Given the description of an element on the screen output the (x, y) to click on. 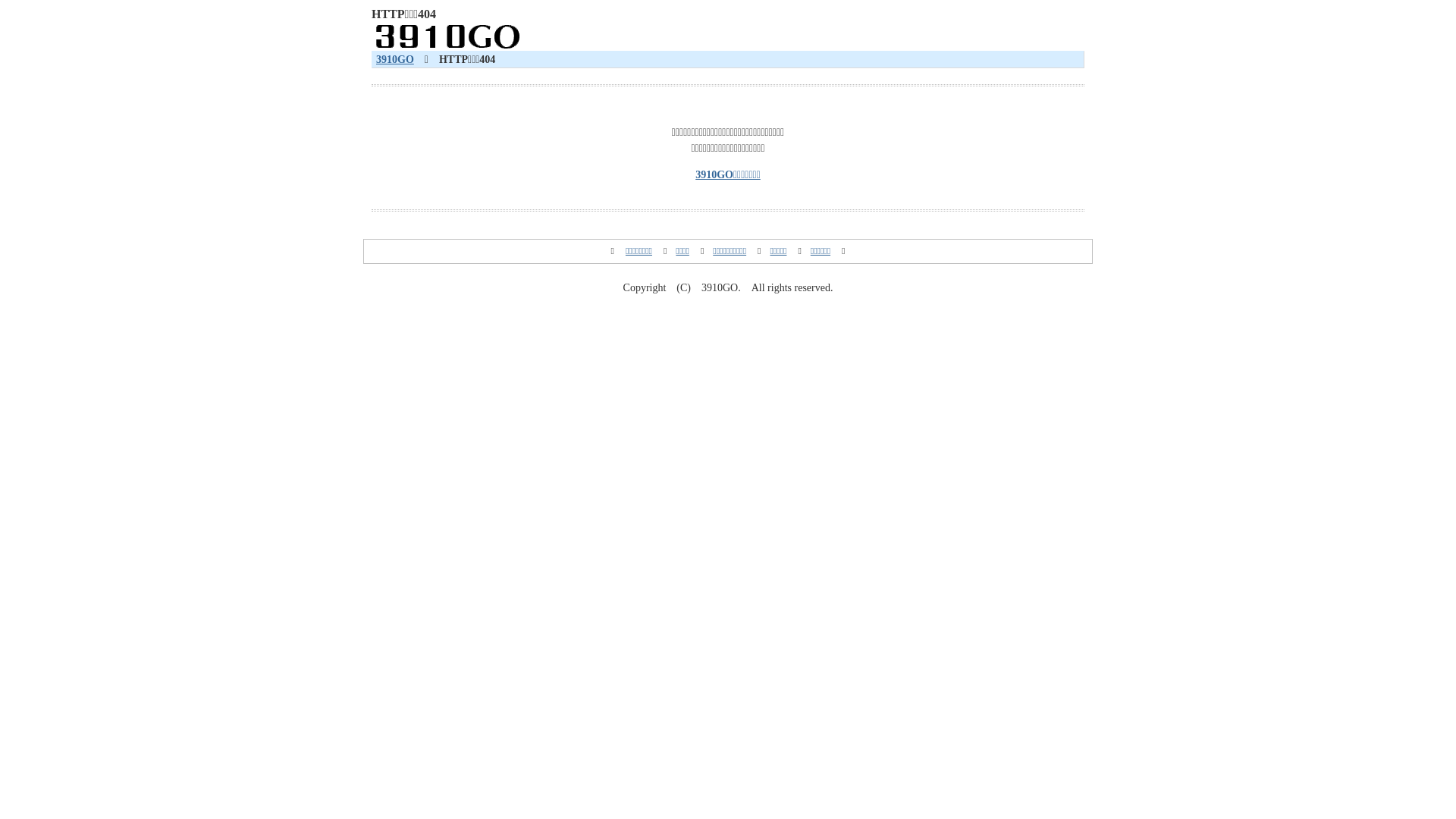
3910GO Element type: text (395, 59)
